Given the description of an element on the screen output the (x, y) to click on. 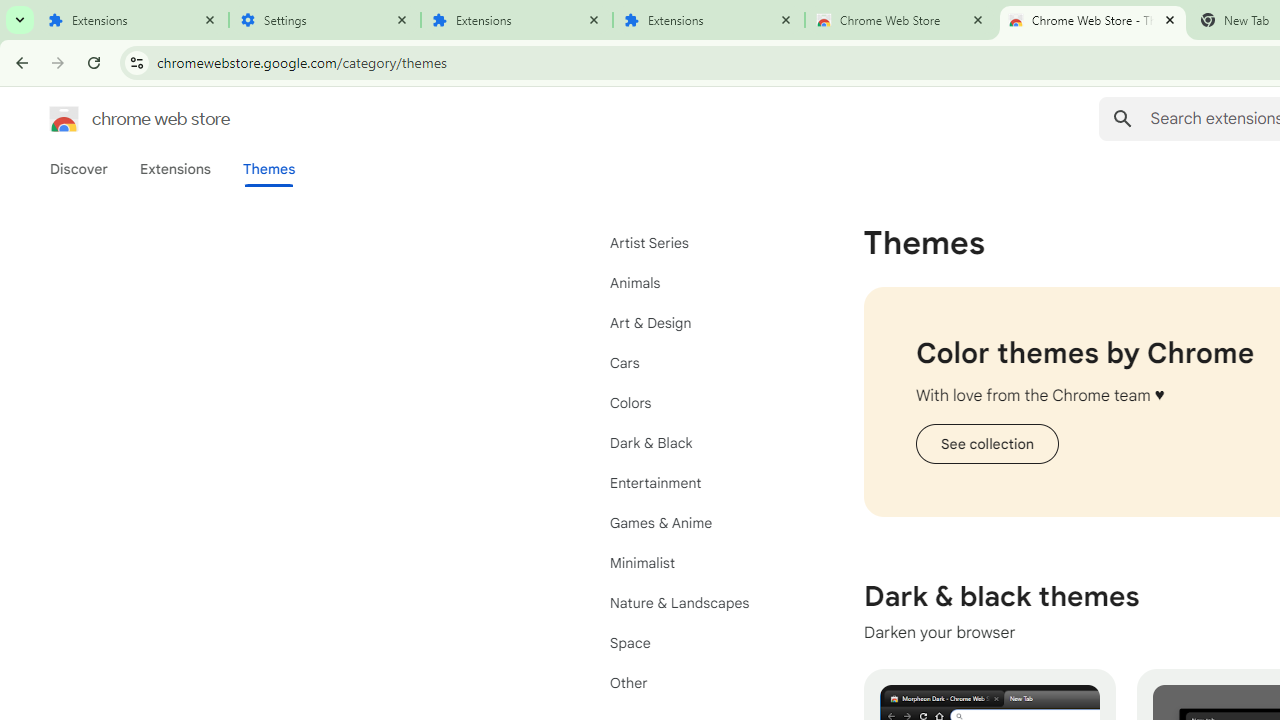
Themes (269, 169)
See the "Color themes by Chrome" collection (986, 443)
Discover (79, 169)
Other (700, 682)
Animals (700, 282)
Games & Anime (700, 522)
Settings (325, 20)
Chrome Web Store logo chrome web store (118, 118)
Extensions (709, 20)
Entertainment (700, 482)
Extensions (133, 20)
Dark & Black (700, 442)
